Given the description of an element on the screen output the (x, y) to click on. 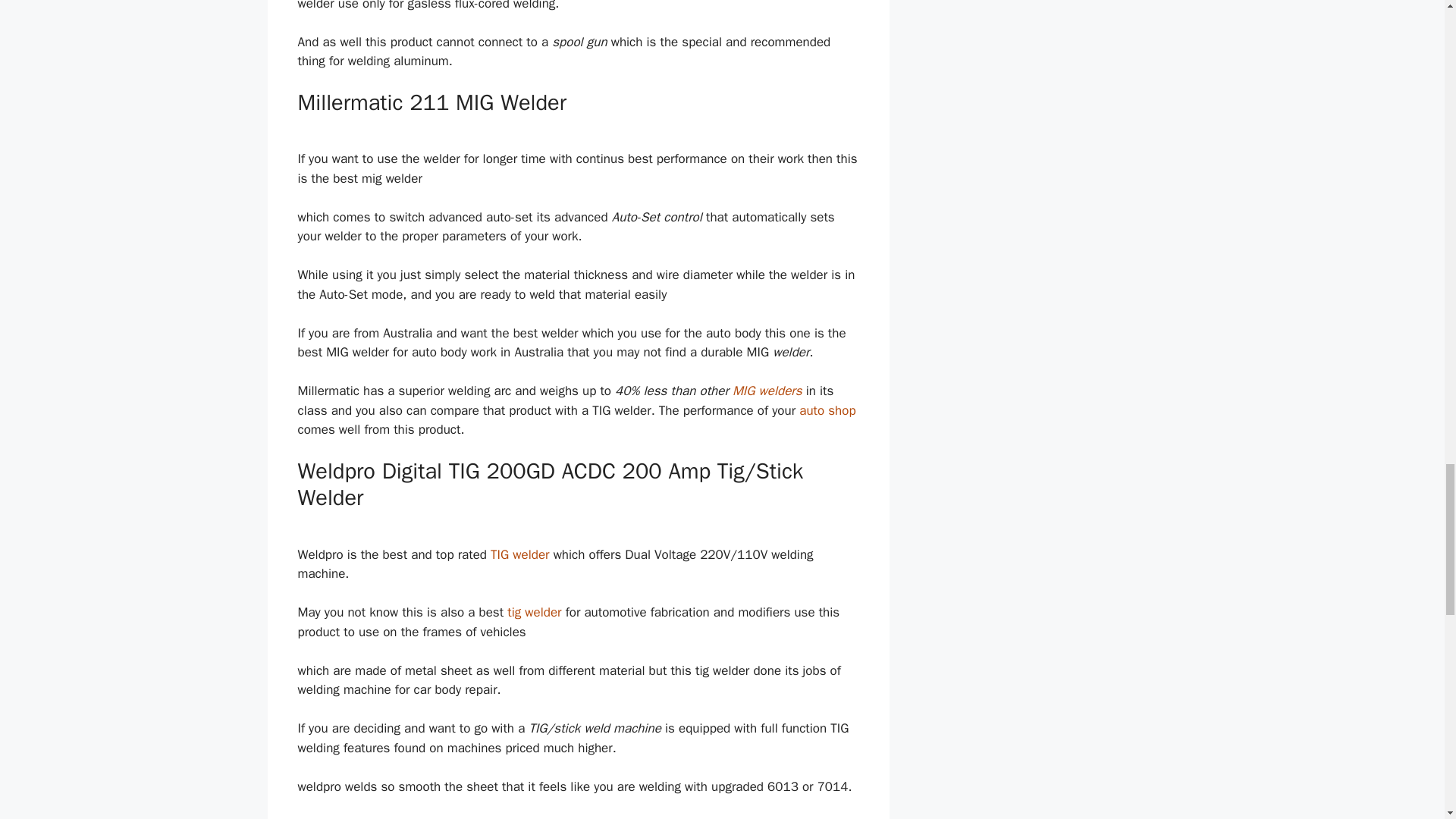
auto shop (827, 410)
TIG welder (519, 554)
tig welder (533, 611)
MIG welders (767, 390)
